Given the description of an element on the screen output the (x, y) to click on. 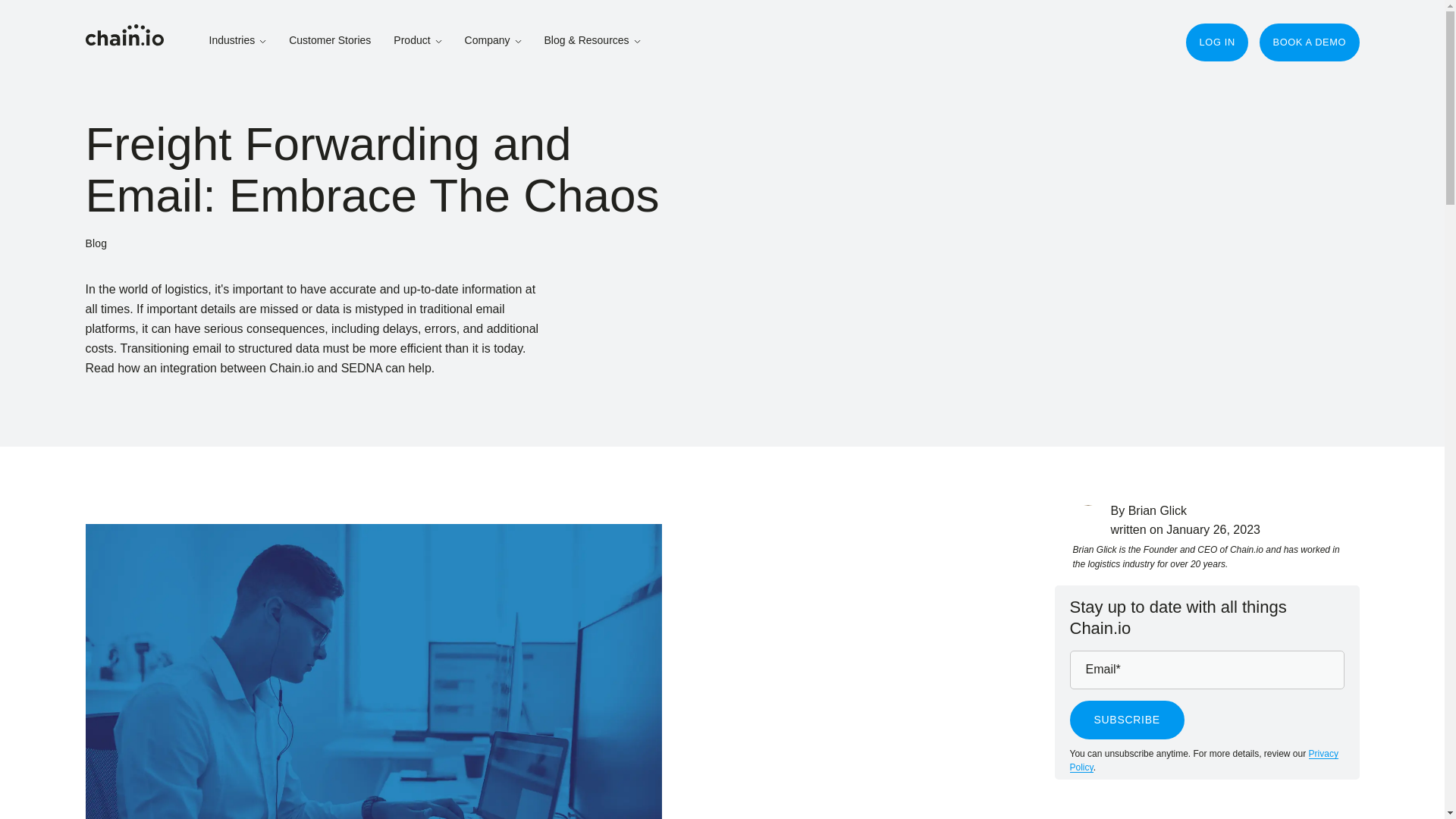
SUBSCRIBE (1125, 720)
Product (417, 40)
BOOK A DEMO (1308, 42)
Blog (95, 243)
Customer Stories (329, 40)
LOG IN (1216, 42)
Industries (237, 40)
Company (492, 40)
Privacy Policy (1203, 760)
